Given the description of an element on the screen output the (x, y) to click on. 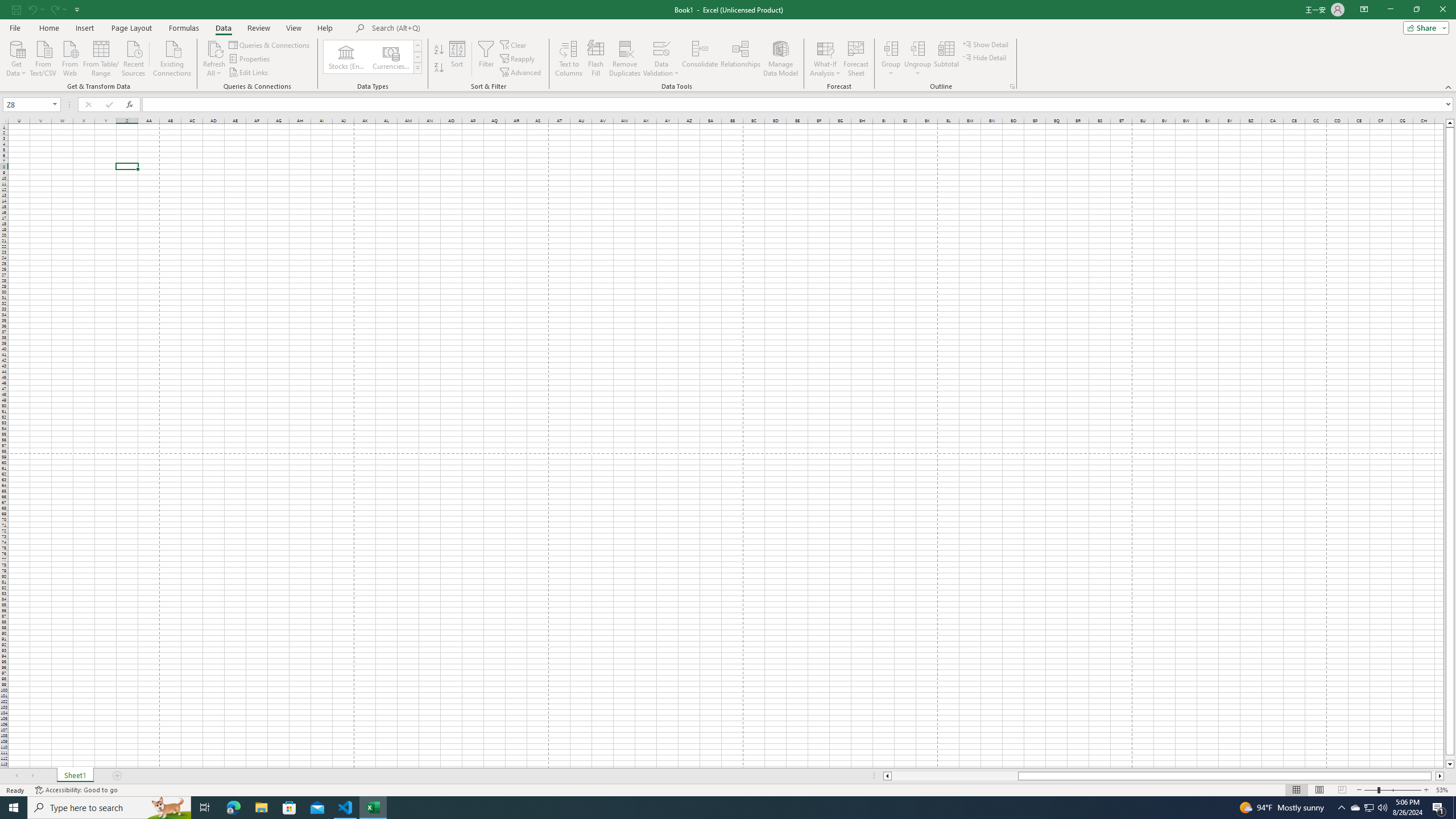
System (6, 6)
Class: MsoCommandBar (728, 45)
Name Box (27, 104)
Get Data (16, 57)
Manage Data Model (780, 58)
Accessibility Checker Accessibility: Good to go (76, 790)
Review (258, 28)
Home (48, 28)
File Tab (15, 27)
Line up (1449, 122)
Undo (35, 9)
Normal (1296, 790)
Properties (250, 58)
Filter (485, 58)
Zoom In (1426, 790)
